Given the description of an element on the screen output the (x, y) to click on. 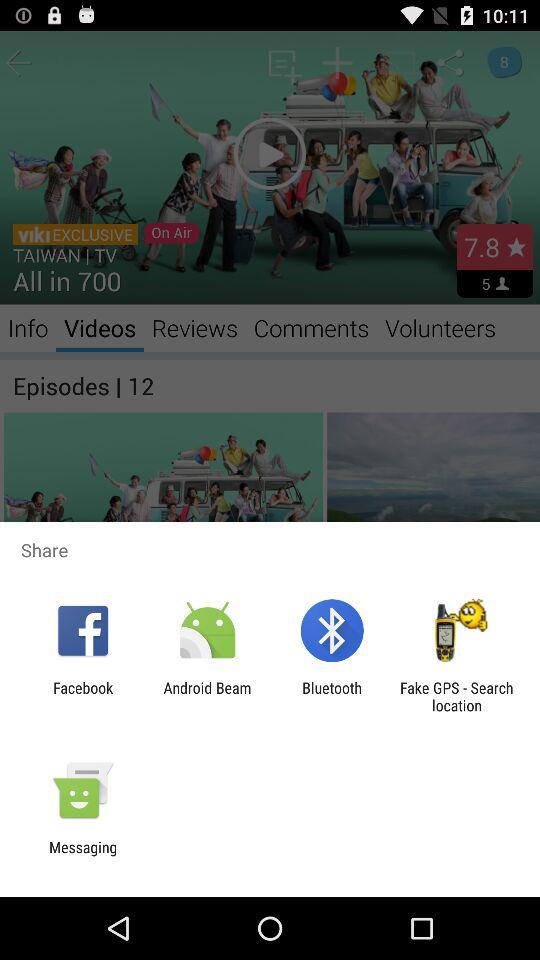
turn on item next to the facebook item (207, 696)
